Given the description of an element on the screen output the (x, y) to click on. 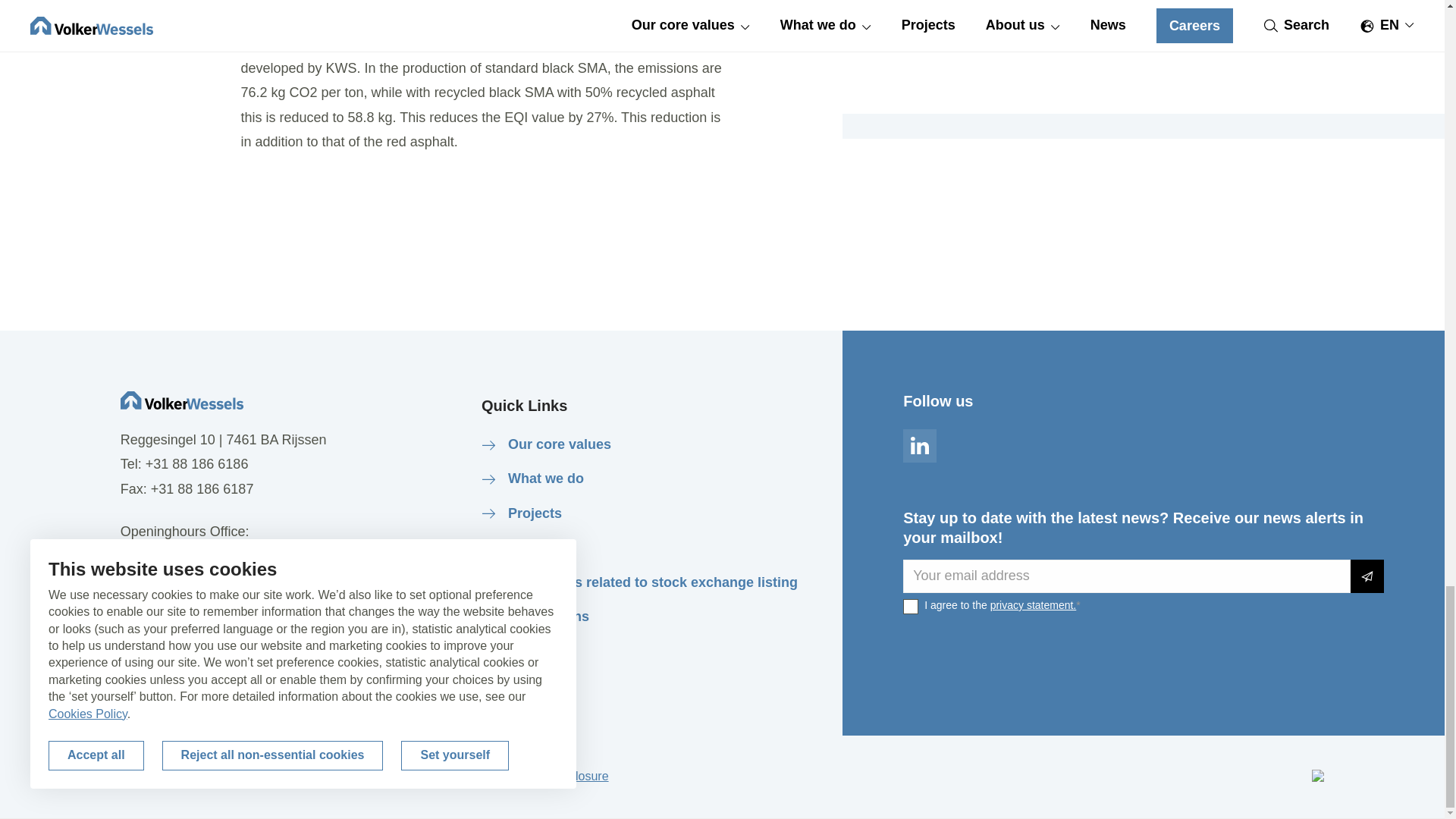
Submit (1367, 575)
